Given the description of an element on the screen output the (x, y) to click on. 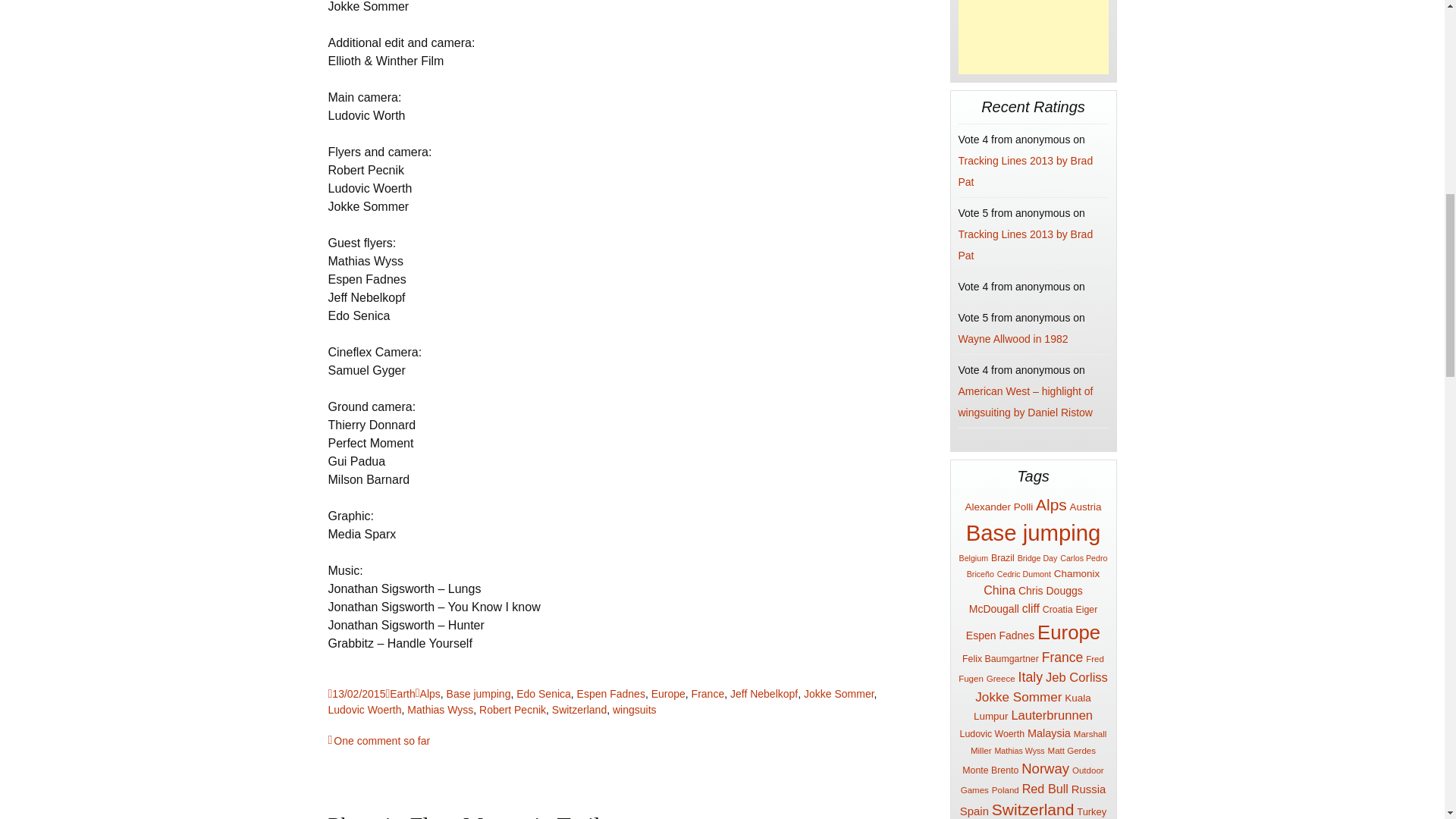
Advertisement (1033, 37)
Base jumping (478, 693)
Mathias Wyss (440, 709)
Alps (427, 693)
wingsuits (634, 709)
Robert Pecnik (512, 709)
Switzerland (579, 709)
Edo Senica (543, 693)
Ludovic Woerth (364, 709)
One comment so far (378, 740)
Europe (667, 693)
Jeff Nebelkopf (763, 693)
France (708, 693)
Earth (399, 693)
Jokke Sommer (839, 693)
